Given the description of an element on the screen output the (x, y) to click on. 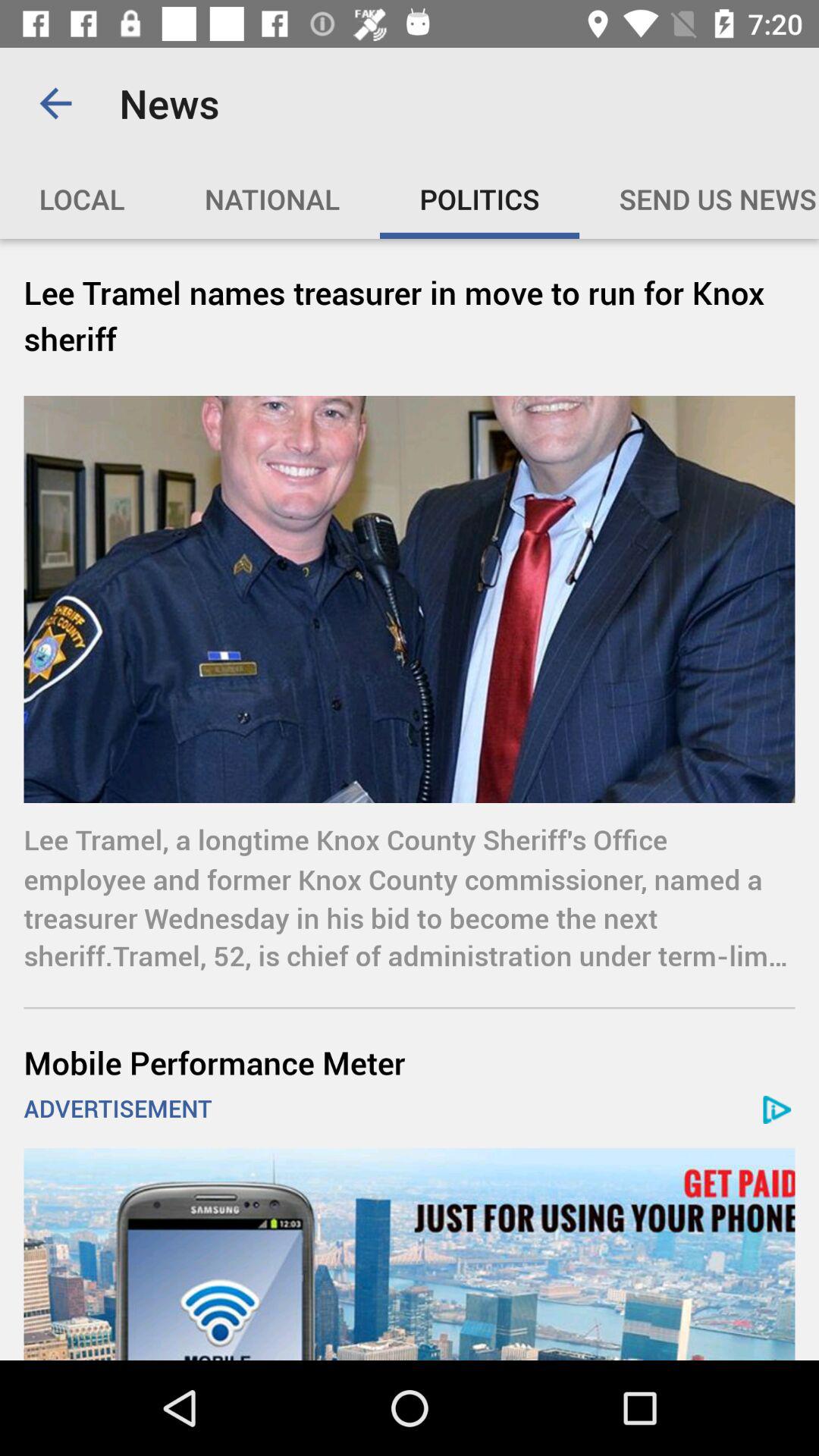
flip until the mobile performance meter item (409, 1062)
